Given the description of an element on the screen output the (x, y) to click on. 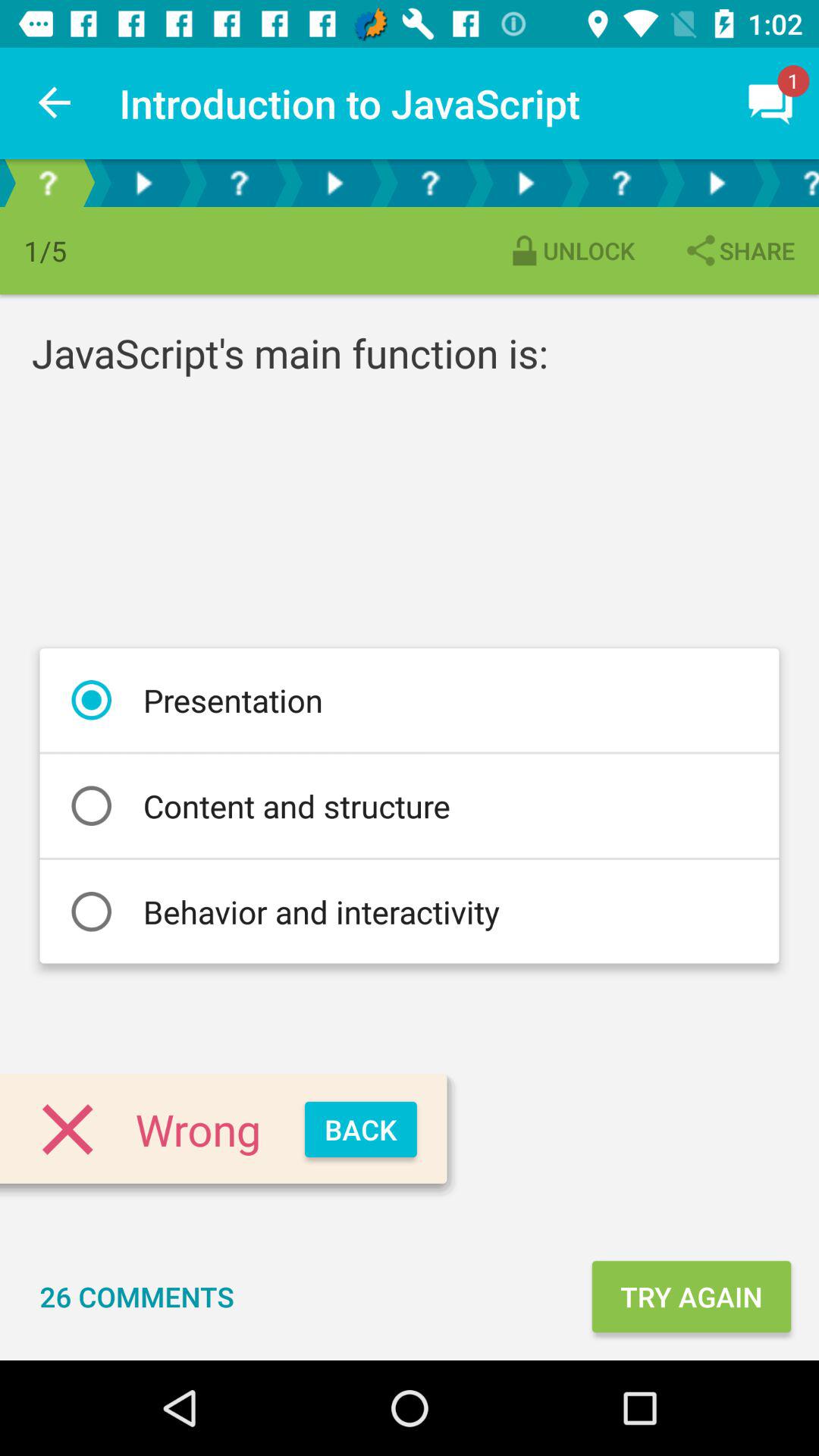
quiz 3 (620, 183)
